Given the description of an element on the screen output the (x, y) to click on. 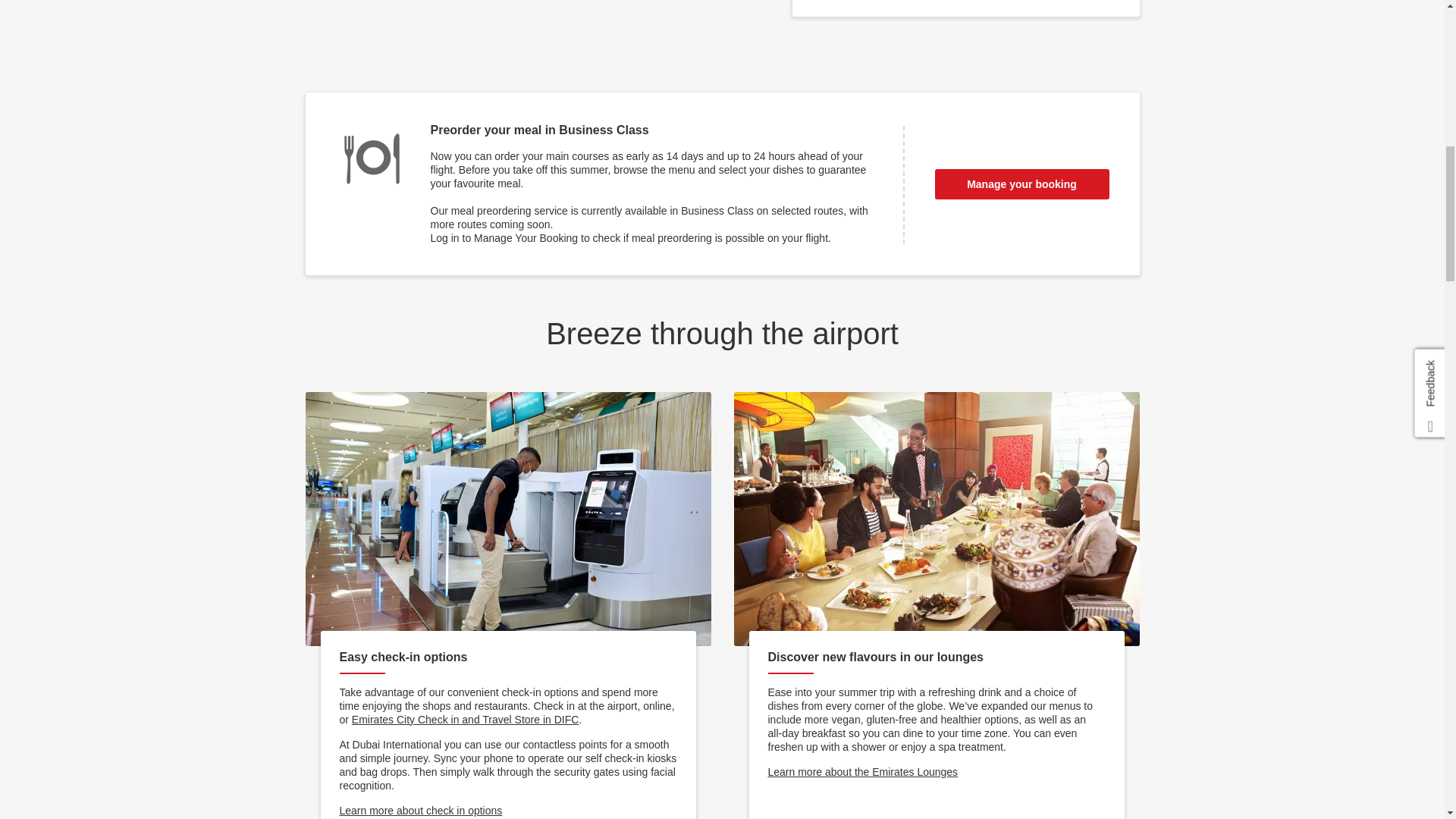
Emirates City Check-in and Travel Store  (465, 719)
Meal icon (370, 158)
